Given the description of an element on the screen output the (x, y) to click on. 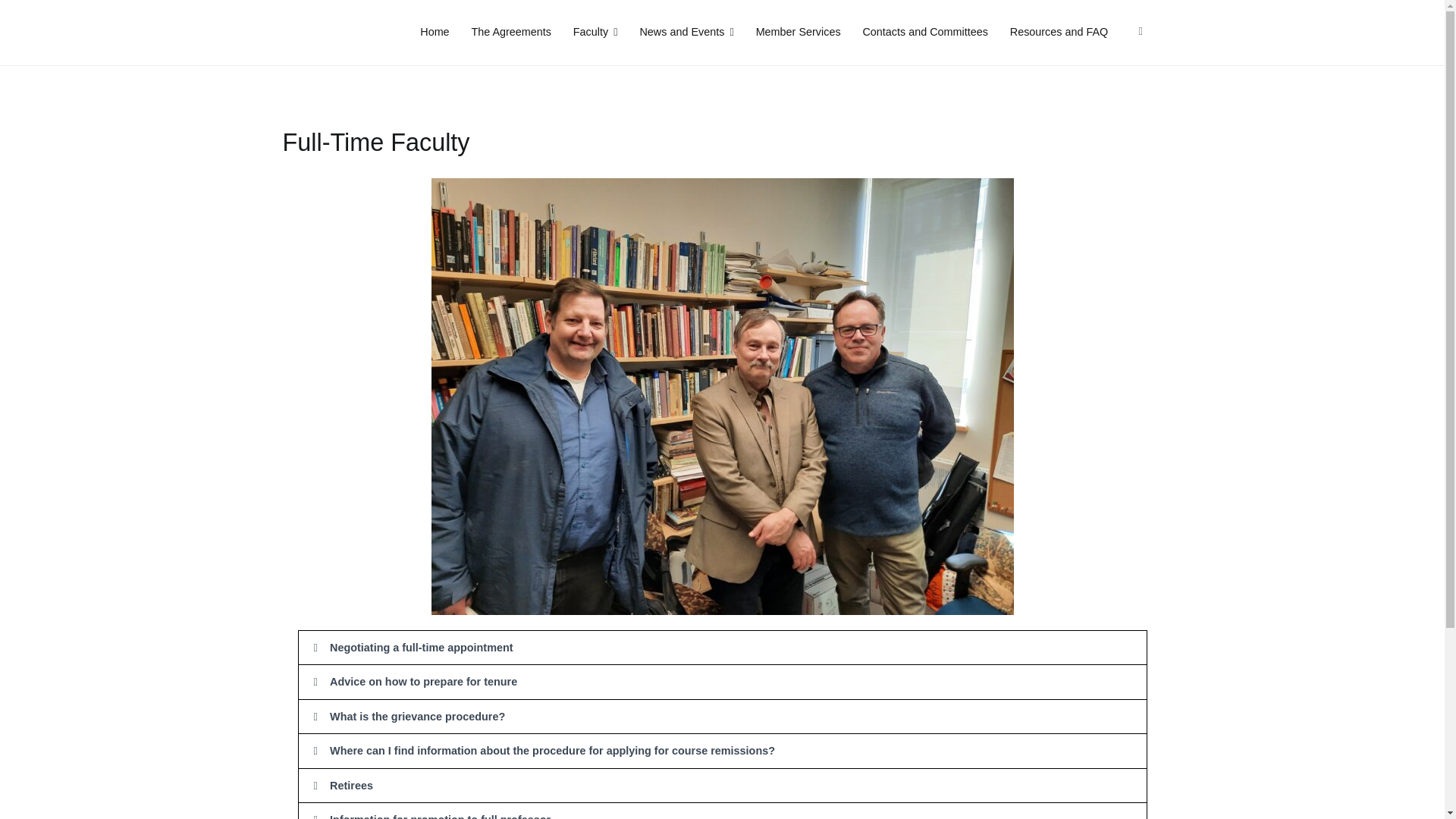
News and Events (686, 32)
Resources and FAQ (1059, 32)
Retirees (351, 785)
Information for promotion to full professor (440, 816)
Contacts and Committees (924, 32)
Advice on how to prepare for tenure (423, 681)
Faculty (595, 32)
Member Services (798, 32)
What is the grievance procedure? (417, 716)
